Given the description of an element on the screen output the (x, y) to click on. 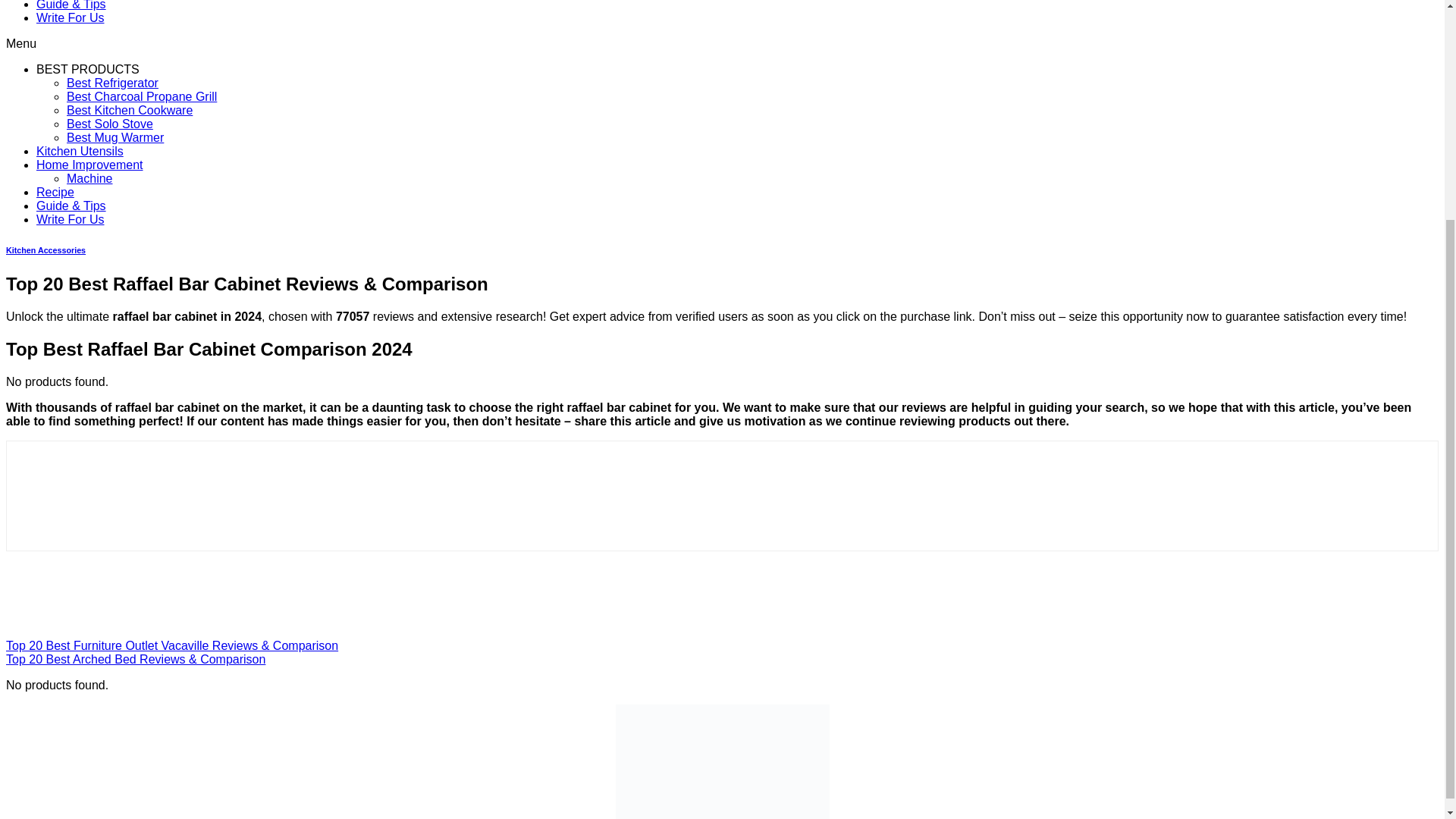
Machine (89, 178)
Write For Us (69, 219)
Best Charcoal Propane Grill (141, 96)
BEST PRODUCTS (87, 69)
Best Kitchen Cookware (129, 110)
Kitchen Accessories (45, 249)
Kitchen Utensils (79, 151)
Home Improvement (89, 164)
Write For Us (69, 17)
Best Refrigerator (112, 82)
